Given the description of an element on the screen output the (x, y) to click on. 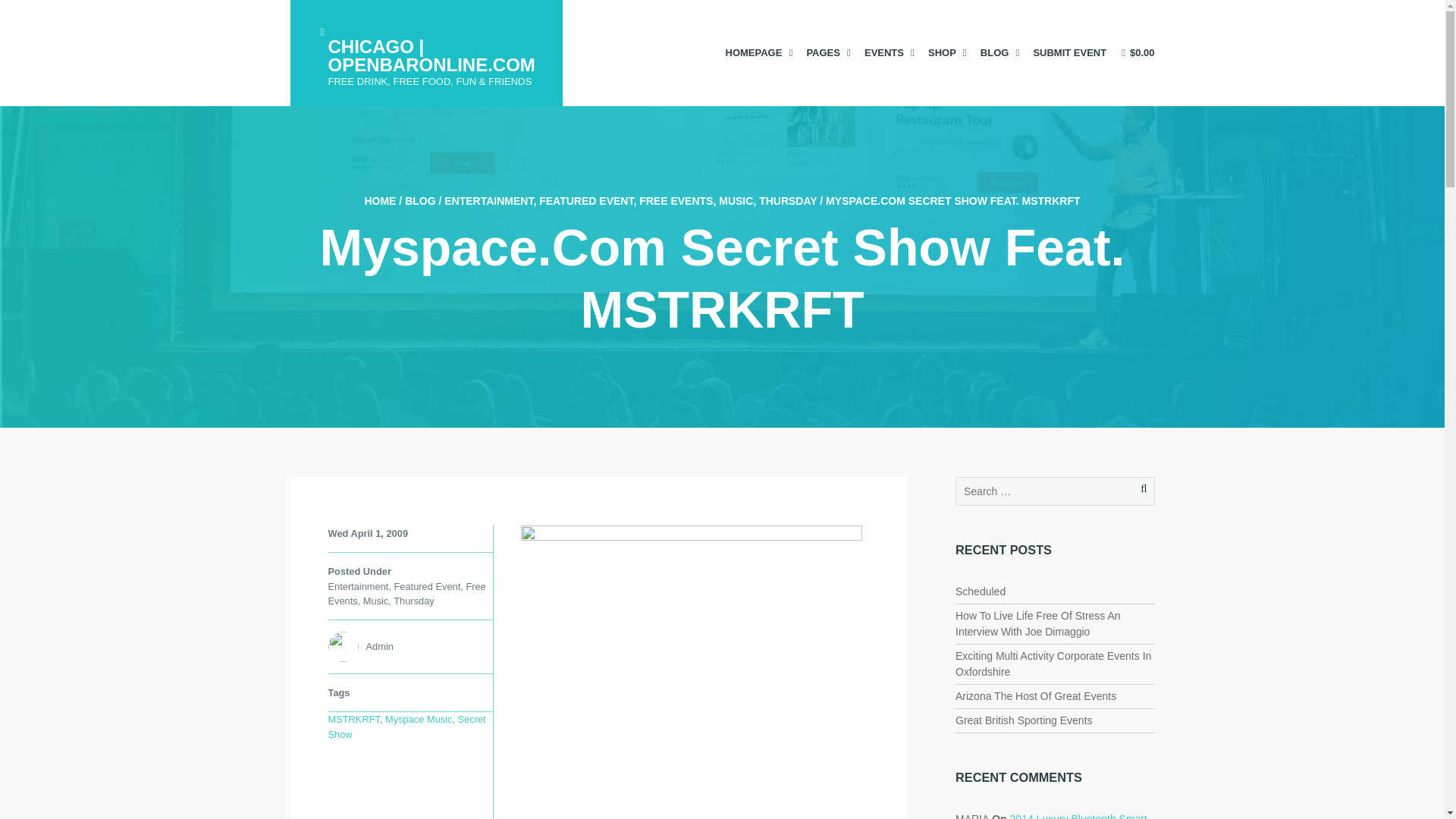
Entertainment (357, 586)
PAGES (827, 52)
MUSIC (735, 200)
THURSDAY (787, 200)
Free Events (405, 593)
HOMEPAGE (758, 52)
EVENTS (888, 52)
FREE EVENTS (676, 200)
Featured Event (427, 586)
HOME (380, 200)
